Given the description of an element on the screen output the (x, y) to click on. 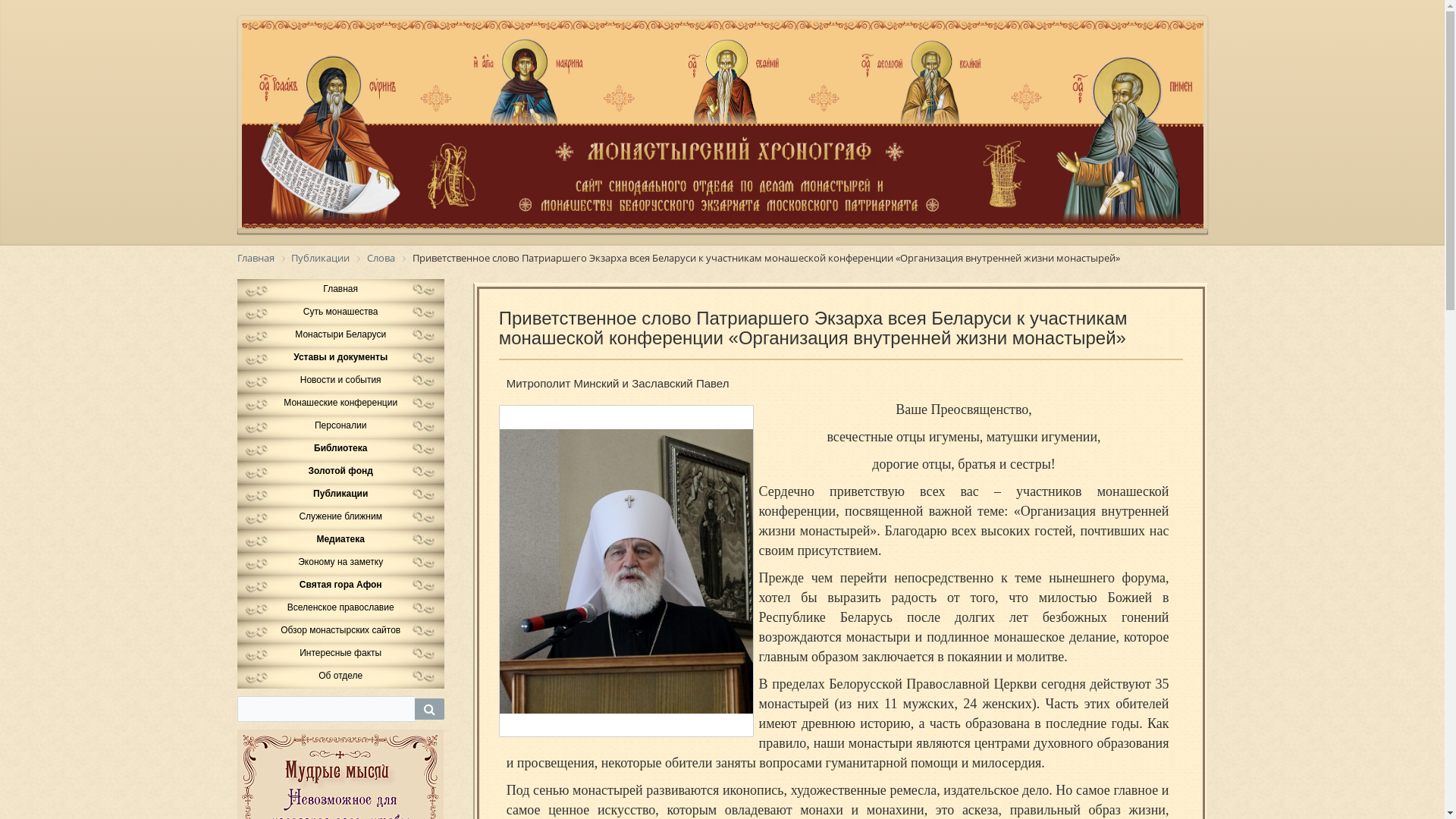
logo Element type: hover (721, 123)
